Given the description of an element on the screen output the (x, y) to click on. 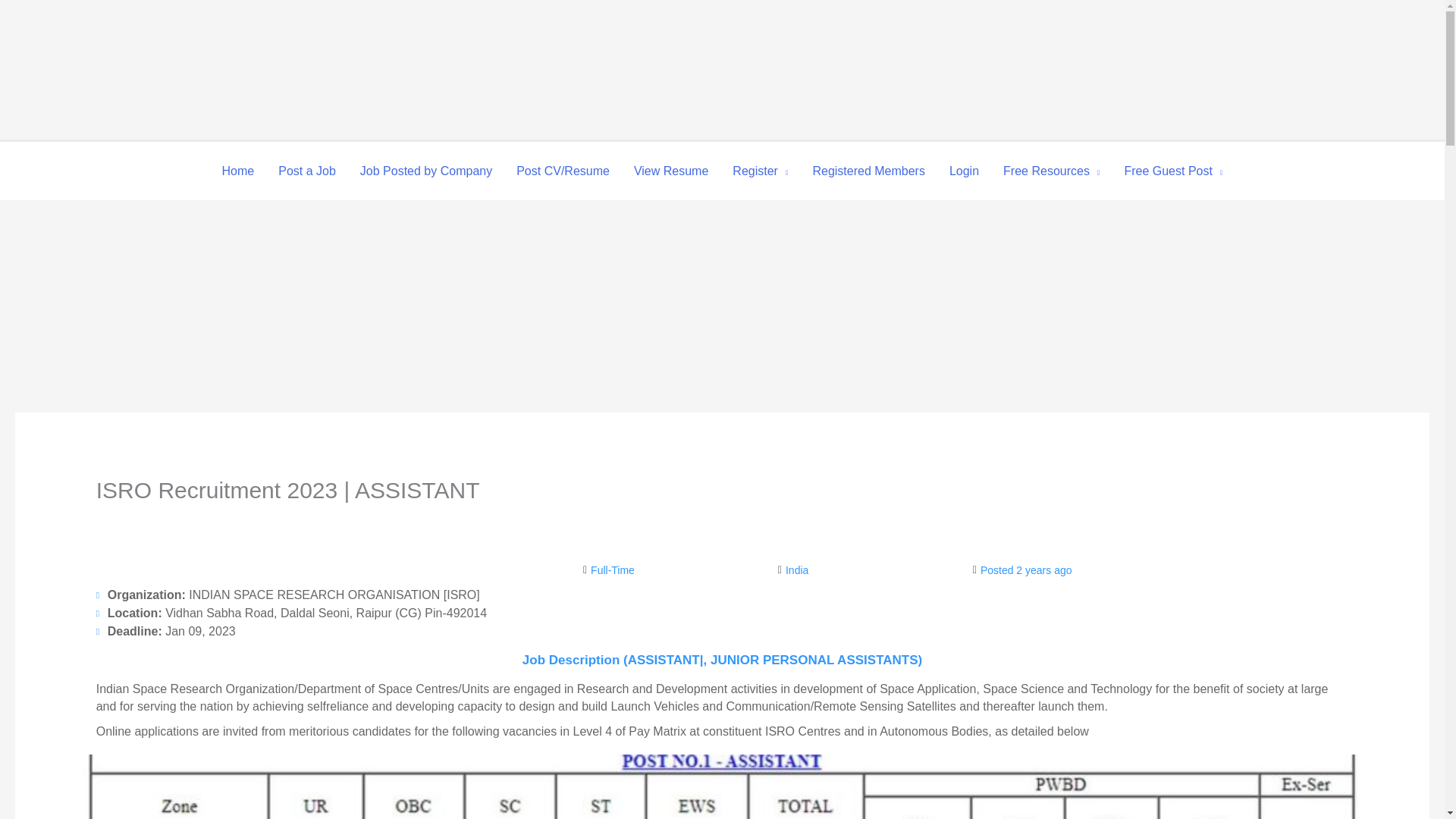
Post a Job (306, 170)
Free Guest Post (1173, 170)
Login (964, 170)
Job Posted by Company (425, 170)
Registered Members (868, 170)
View Resume (670, 170)
isro recruitment (722, 786)
Home (237, 170)
Register (759, 170)
Free Resources (1051, 170)
